Given the description of an element on the screen output the (x, y) to click on. 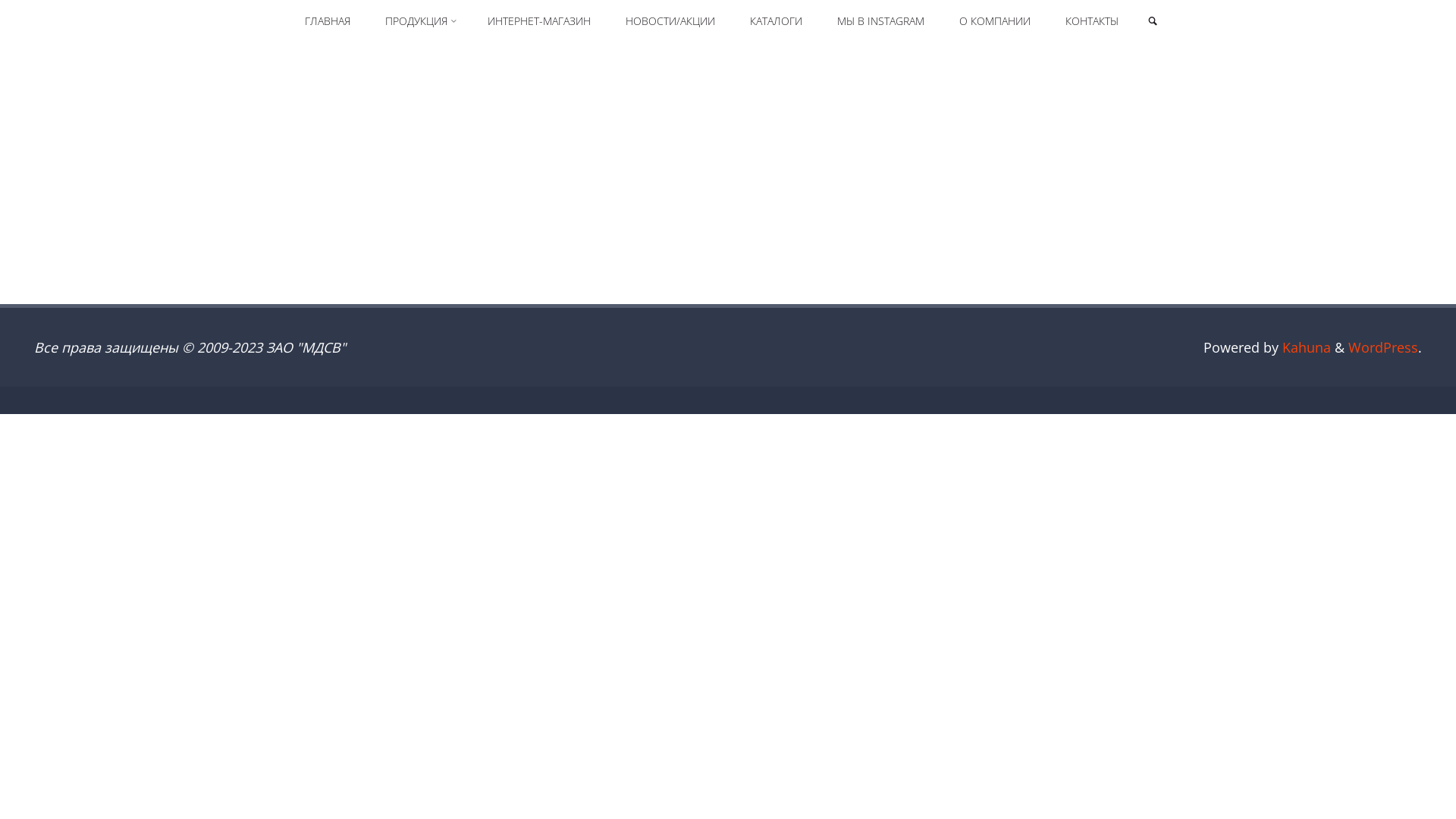
WordPress Element type: text (1383, 347)
SEARCH Element type: text (1152, 21)
Kahuna Element type: text (1304, 347)
